Given the description of an element on the screen output the (x, y) to click on. 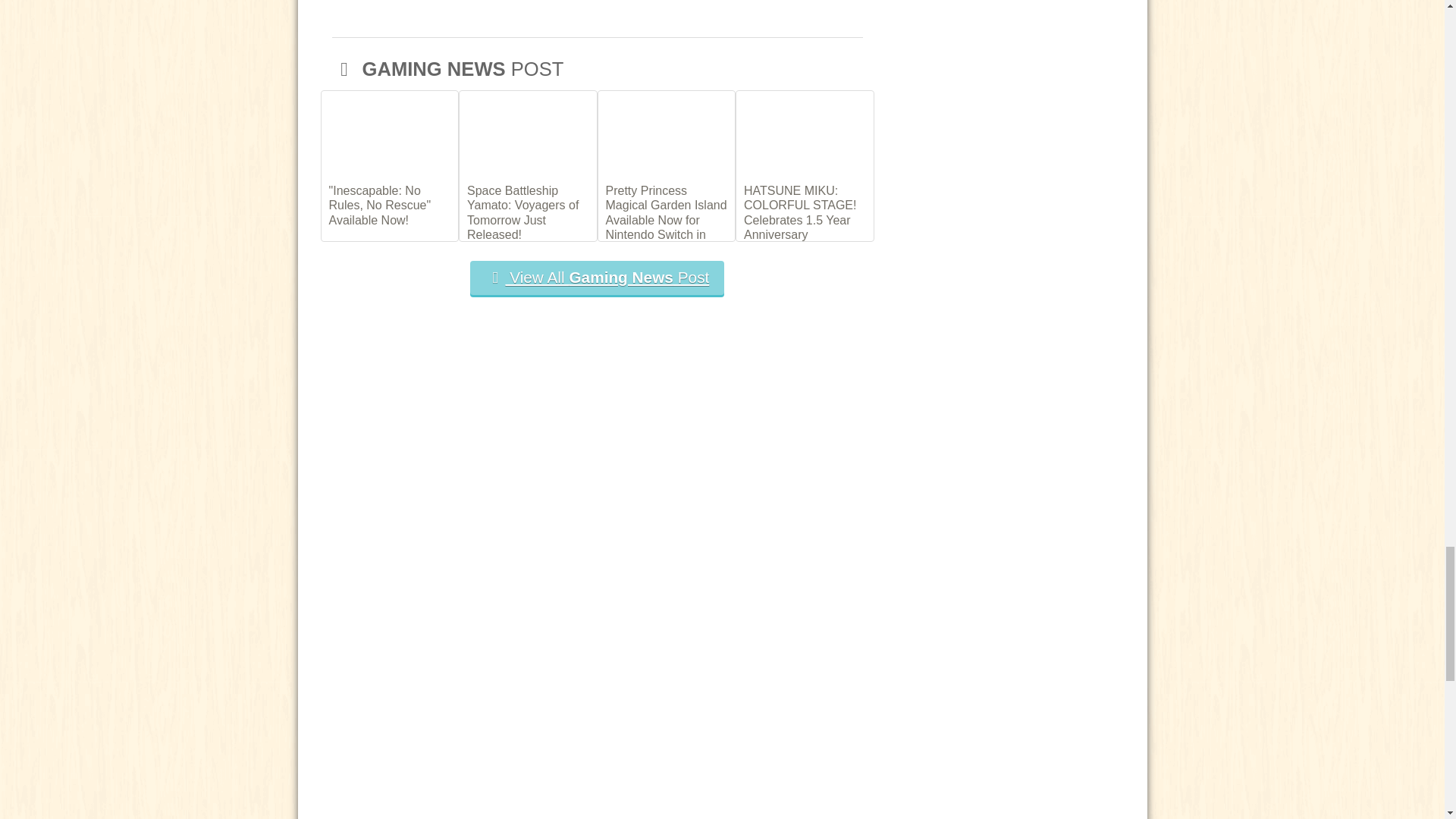
Space Battleship Yamato: Voyagers of Tomorrow Just Released! (528, 211)
View All Gaming News Post (597, 277)
"Inescapable: No Rules, No Rescue" Available Now! (389, 203)
